Given the description of an element on the screen output the (x, y) to click on. 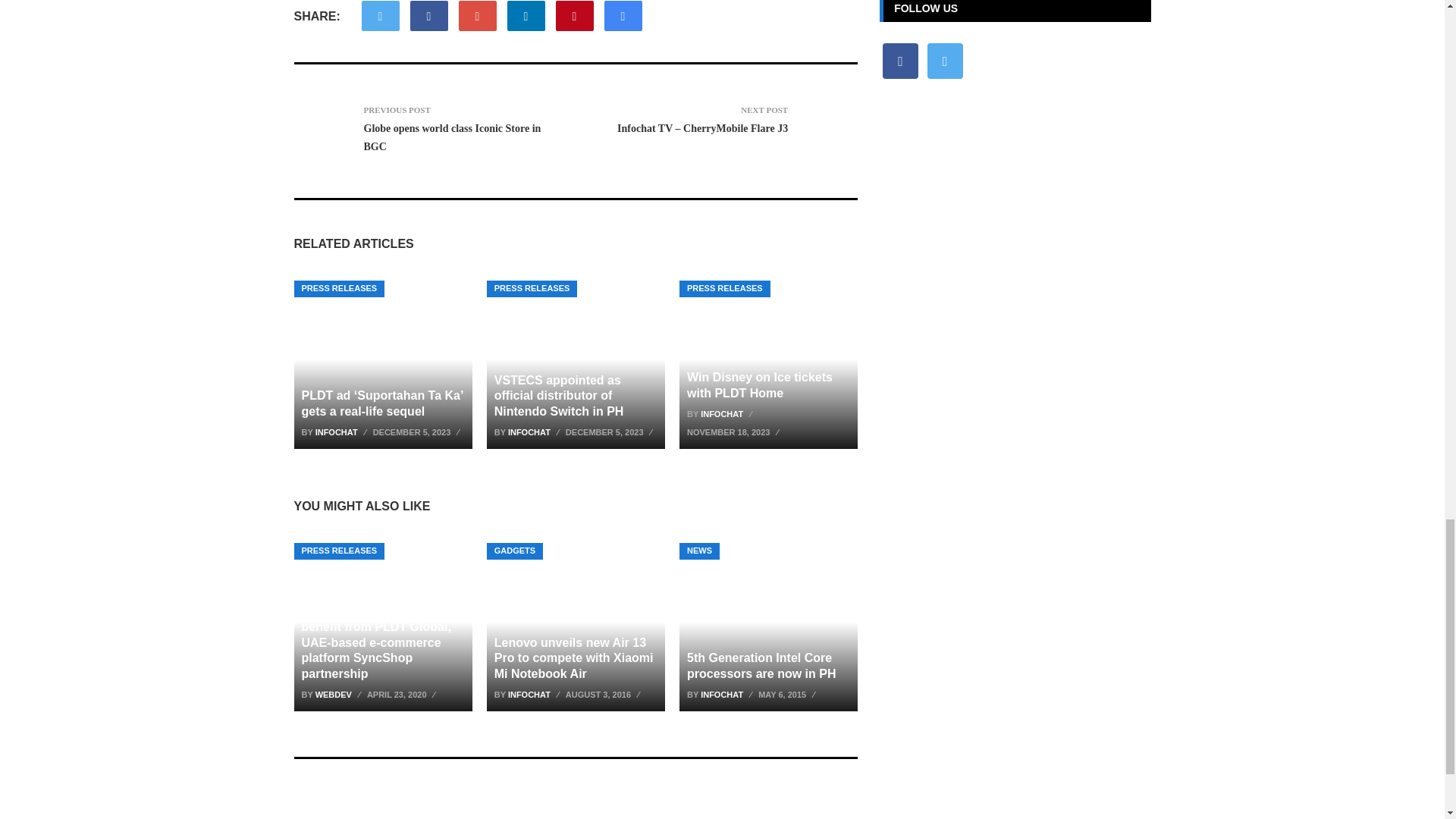
Wednesday, May 6, 2015, 10:08 am (788, 694)
Wednesday, August 3, 2016, 8:54 pm (604, 694)
Tuesday, December 5, 2023, 3:27 pm (611, 432)
Thursday, April 23, 2020, 6:32 pm (402, 694)
Saturday, November 18, 2023, 12:48 pm (735, 432)
Tuesday, December 5, 2023, 4:47 pm (418, 432)
